Given the description of an element on the screen output the (x, y) to click on. 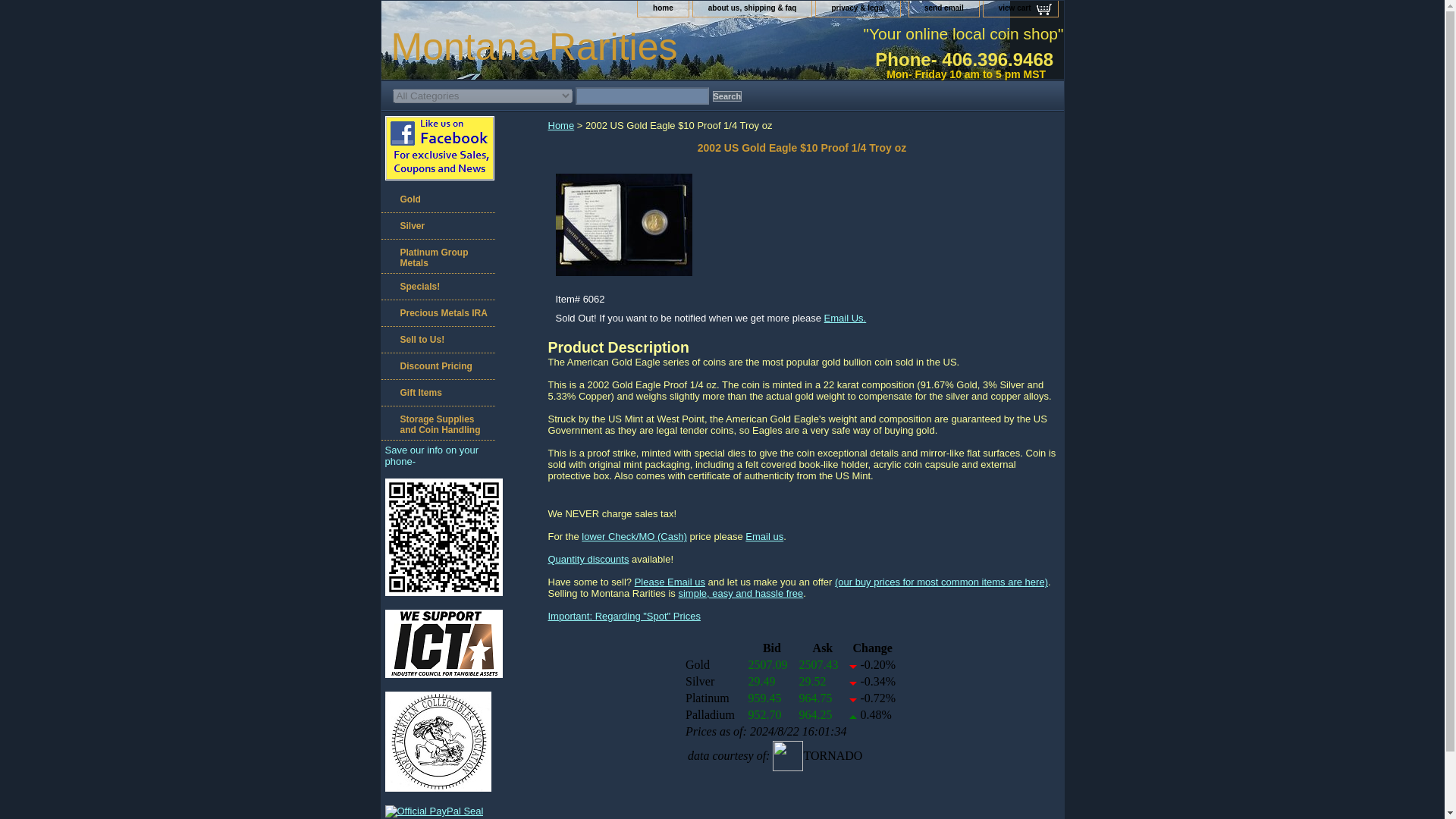
Please Email us (669, 582)
Search (727, 95)
Gold (437, 199)
Montana Rarities (551, 48)
Gift Items (437, 393)
Montana Rarities (551, 48)
send email (943, 8)
Save our info on your phone- (432, 455)
view cart (1021, 8)
Sell to Us! (437, 339)
